Given the description of an element on the screen output the (x, y) to click on. 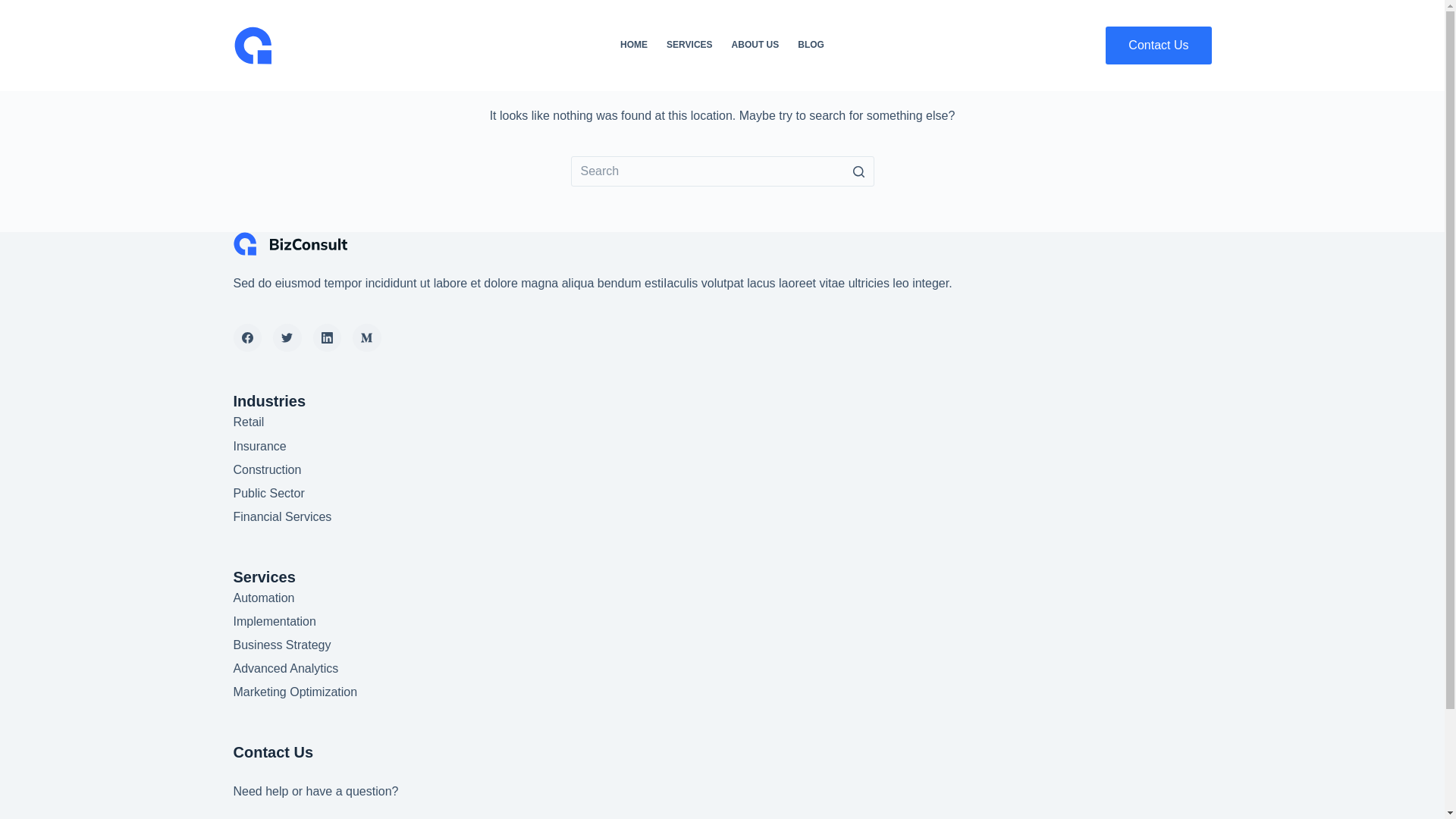
Public Sector Element type: text (268, 492)
Retail Element type: text (248, 421)
Contact Us Element type: text (1158, 45)
Search for... Element type: hover (721, 171)
ABOUT US Element type: text (754, 45)
BLOG Element type: text (811, 45)
Construction Element type: text (267, 469)
Insurance Element type: text (259, 445)
Skip to content Element type: text (15, 7)
Implementation Element type: text (274, 621)
Automation Element type: text (263, 597)
Business Strategy Element type: text (282, 644)
Financial Services Element type: text (282, 516)
SERVICES Element type: text (689, 45)
Marketing Optimization Element type: text (295, 691)
HOME Element type: text (634, 45)
Advanced Analytics Element type: text (285, 668)
